Given the description of an element on the screen output the (x, y) to click on. 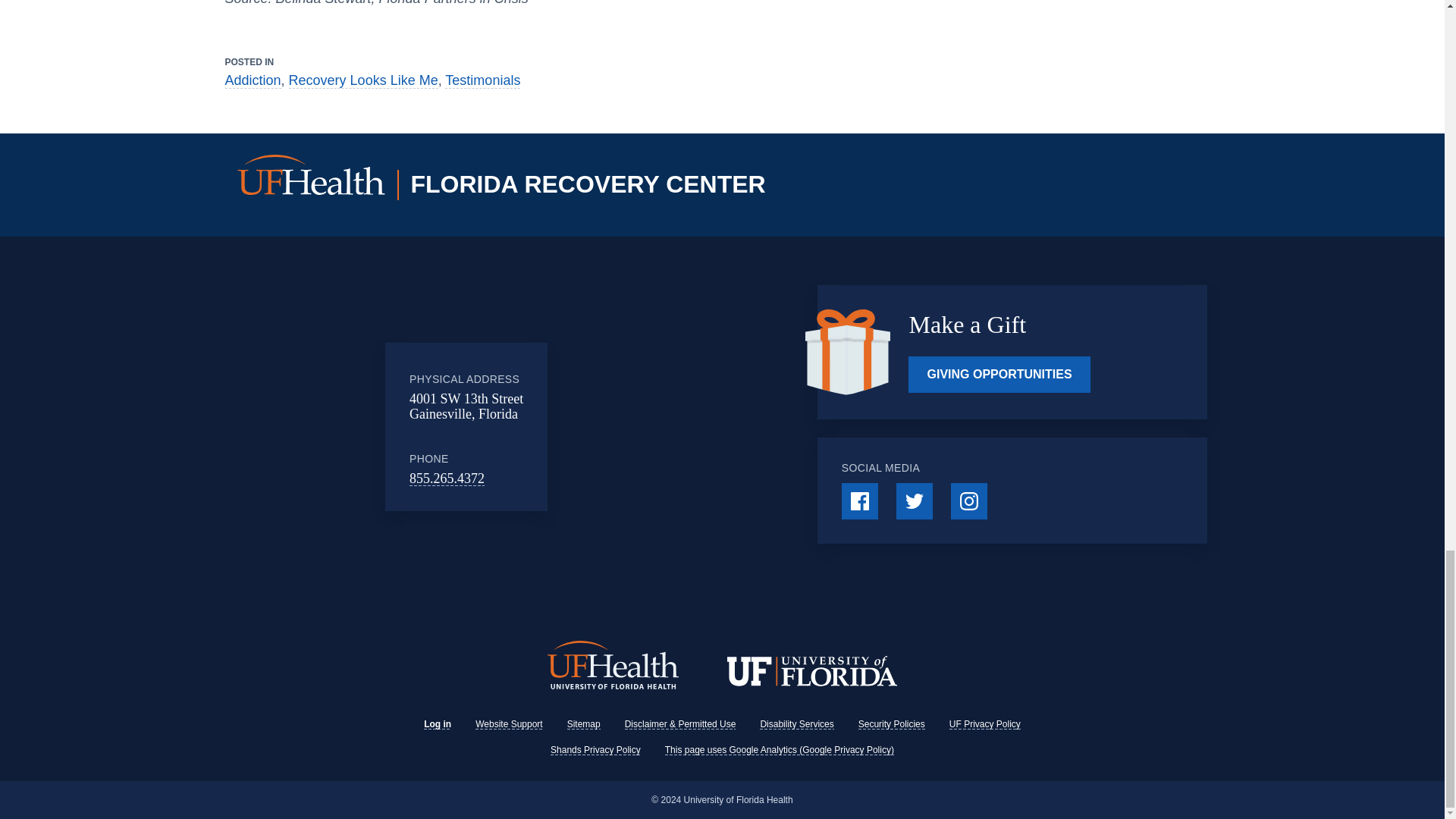
UF Privacy Policy (984, 724)
Log in (437, 724)
Sitemap (583, 724)
855.265.4372 (446, 478)
Disability Services (796, 724)
Shands Privacy Policy (595, 749)
Website Support (509, 724)
Security Policies (891, 724)
